Given the description of an element on the screen output the (x, y) to click on. 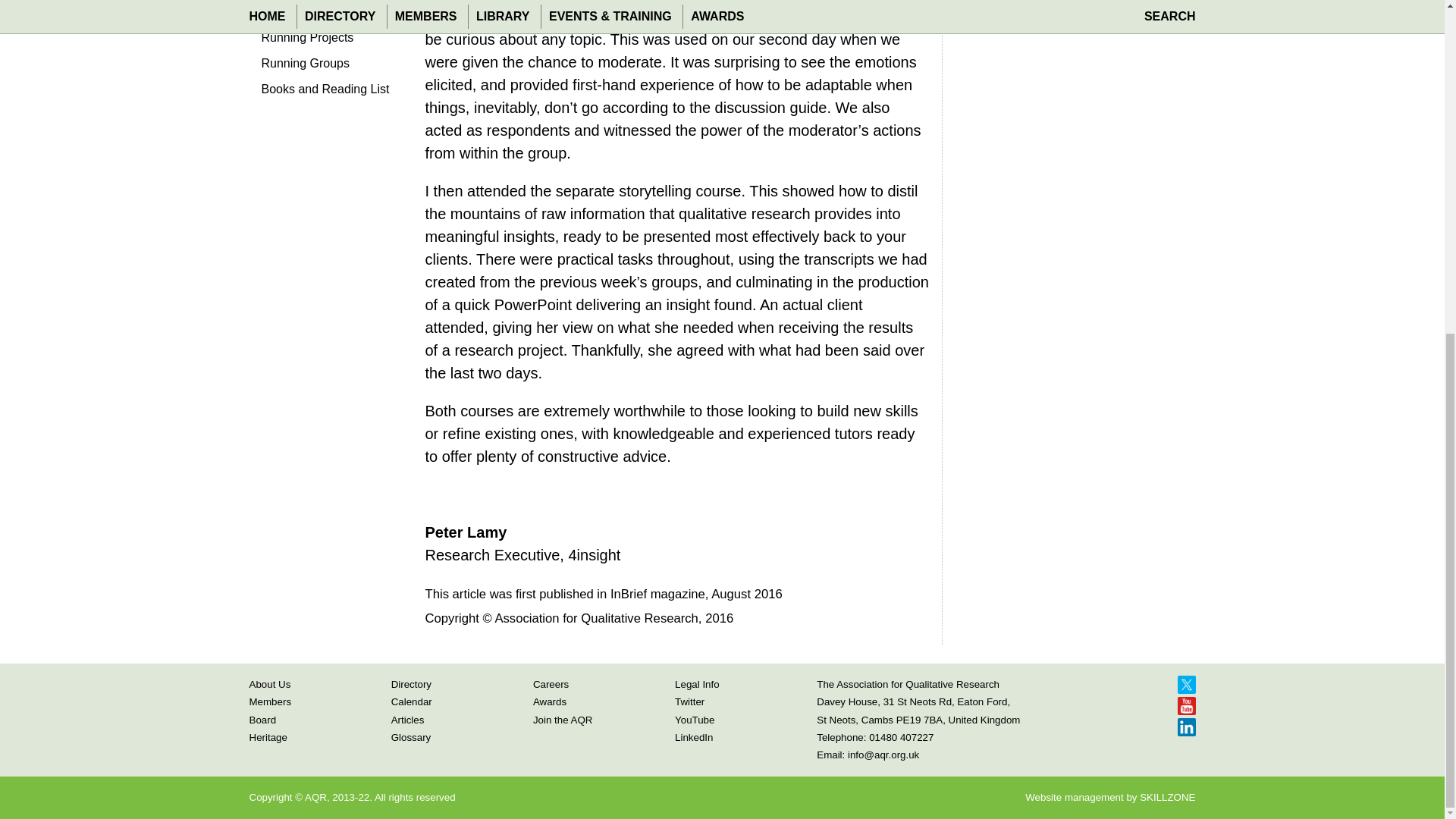
Directory (410, 684)
Articles (408, 719)
Heritage (267, 737)
About Us (268, 684)
Calendar (411, 701)
Members (269, 701)
Books and Reading List (324, 93)
Careers (550, 684)
Running Projects (324, 41)
Board (262, 719)
Running Groups (324, 67)
Glossary (410, 737)
Awards (549, 701)
